Given the description of an element on the screen output the (x, y) to click on. 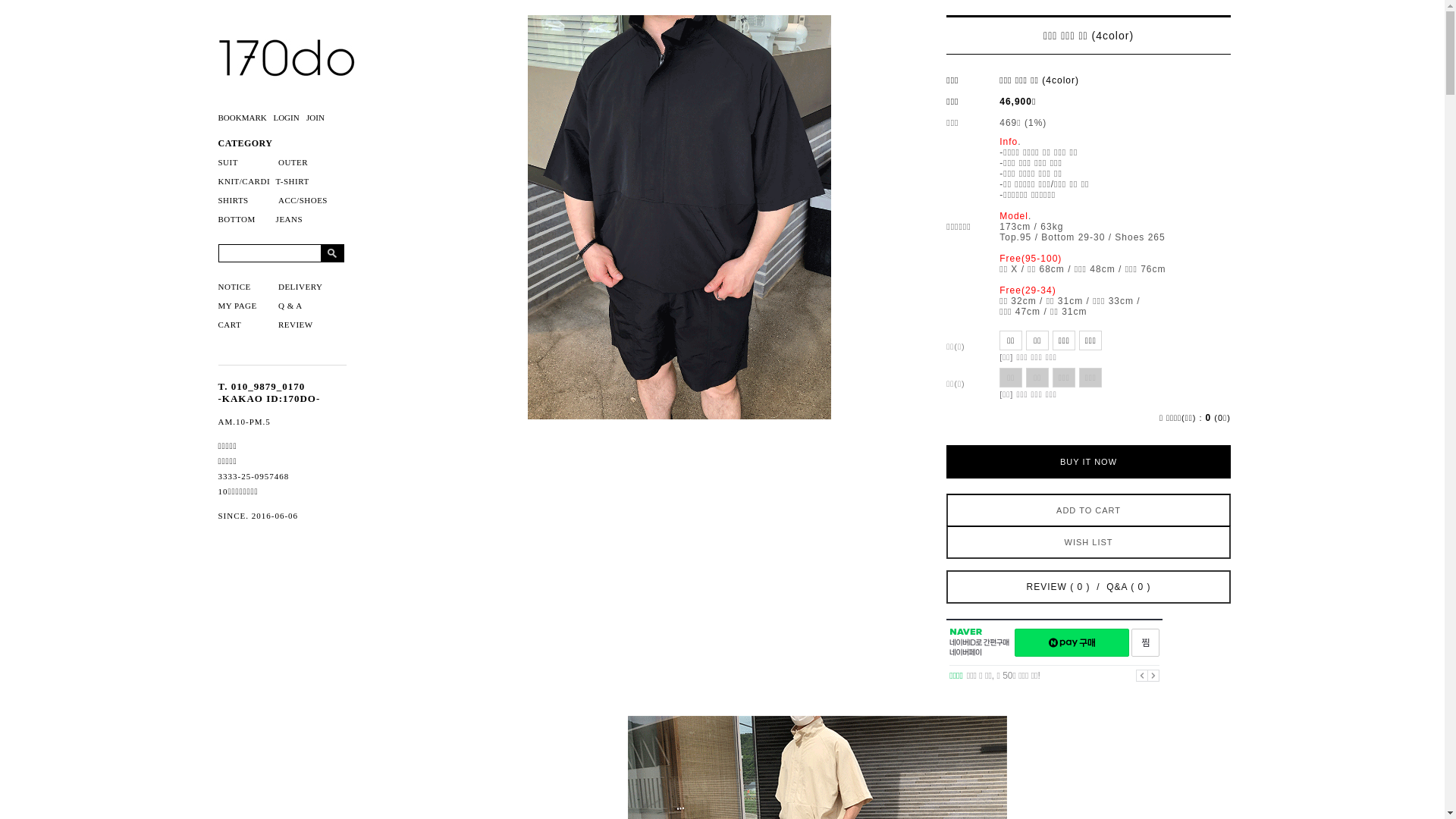
Q & A Element type: text (290, 305)
LOGIN Element type: text (288, 117)
JEANS Element type: text (289, 218)
DELIVERY Element type: text (300, 286)
BOOKMARK Element type: text (245, 117)
SUIT Element type: text (228, 161)
Q&A ( 0 ) Element type: text (1128, 586)
T-SHIRT Element type: text (292, 180)
NOTICE Element type: text (234, 286)
BOTTOM Element type: text (236, 218)
WISH LIST Element type: text (1088, 541)
REVIEW Element type: text (295, 324)
CART Element type: text (229, 324)
ADD TO CART Element type: text (1088, 509)
OUTER Element type: text (292, 161)
KNIT/CARDI Element type: text (244, 180)
ACC/SHOES Element type: text (302, 199)
MY PAGE Element type: text (237, 305)
BUY IT NOW Element type: text (1088, 461)
SHIRTS Element type: text (233, 199)
JOIN Element type: text (317, 117)
REVIEW ( 0 ) Element type: text (1058, 586)
